Given the description of an element on the screen output the (x, y) to click on. 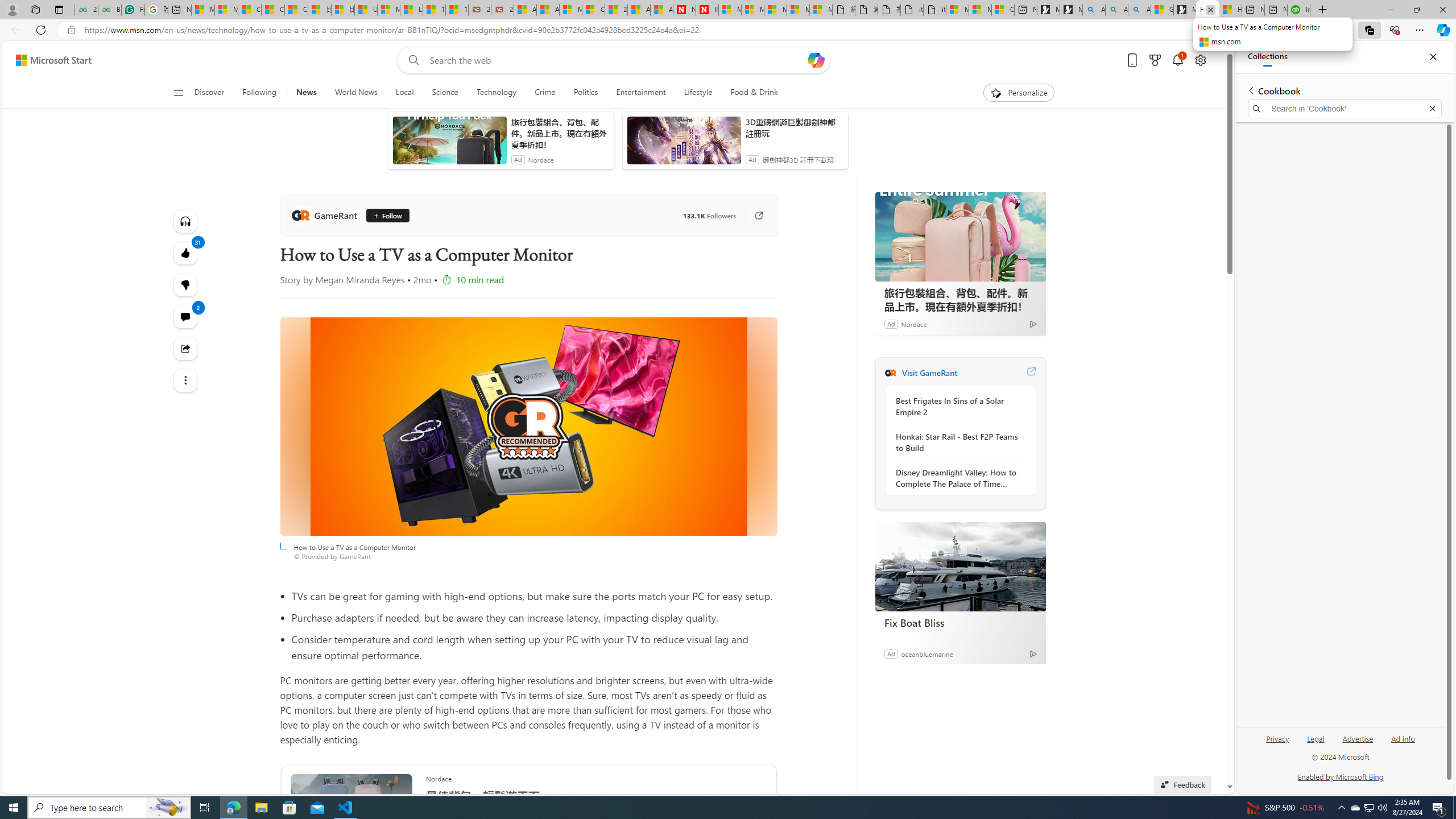
Personalize (1019, 92)
World News (355, 92)
Ad info (1402, 742)
Ad info (1402, 738)
